Given the description of an element on the screen output the (x, y) to click on. 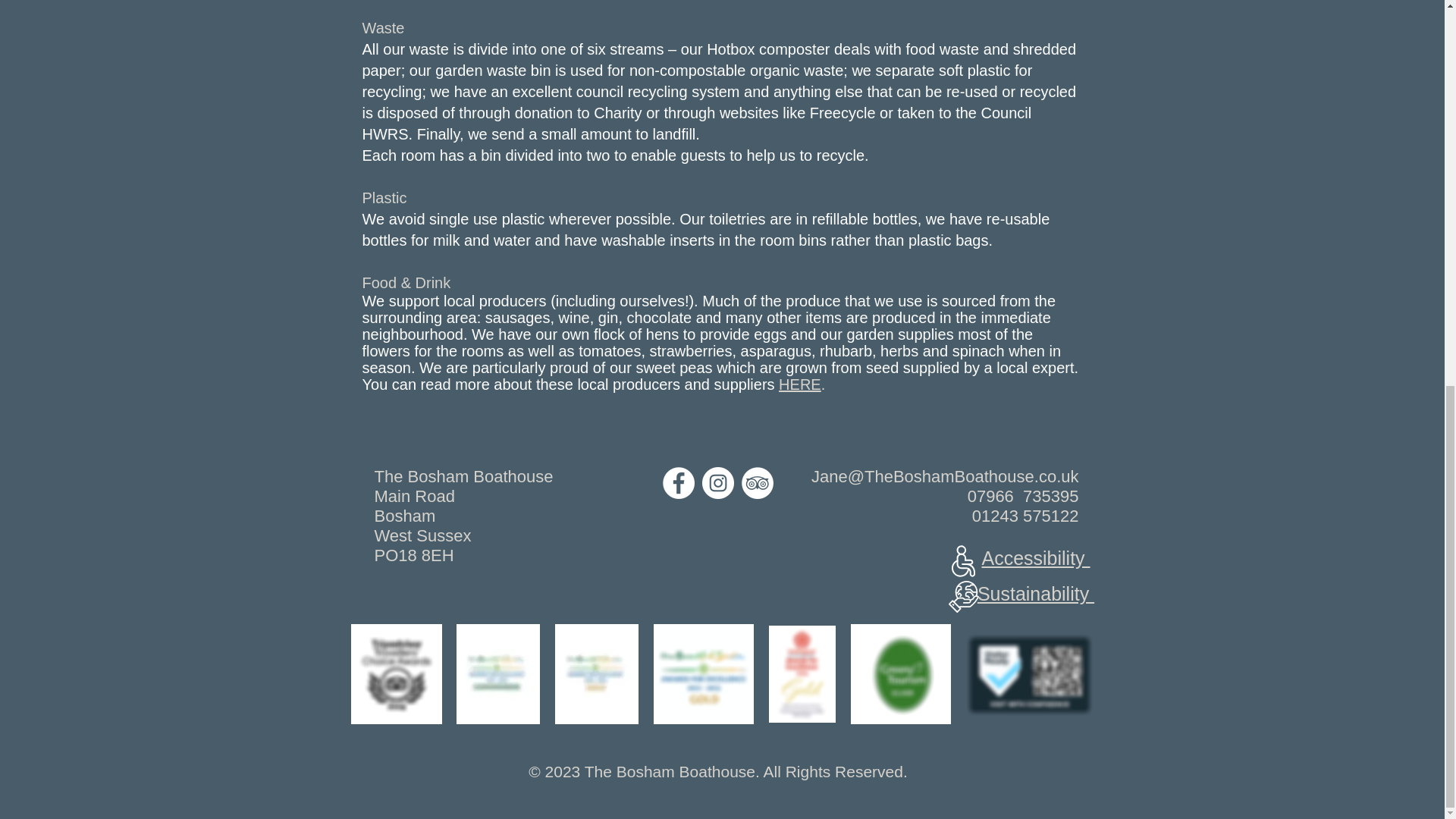
HERE (799, 384)
Visitor Ready.png (1030, 674)
01243 575122 (1025, 515)
Accessibility  (1035, 557)
07966  735395 (1023, 496)
1.png (900, 673)
2.png (703, 673)
Sustainability  (1035, 593)
